Given the description of an element on the screen output the (x, y) to click on. 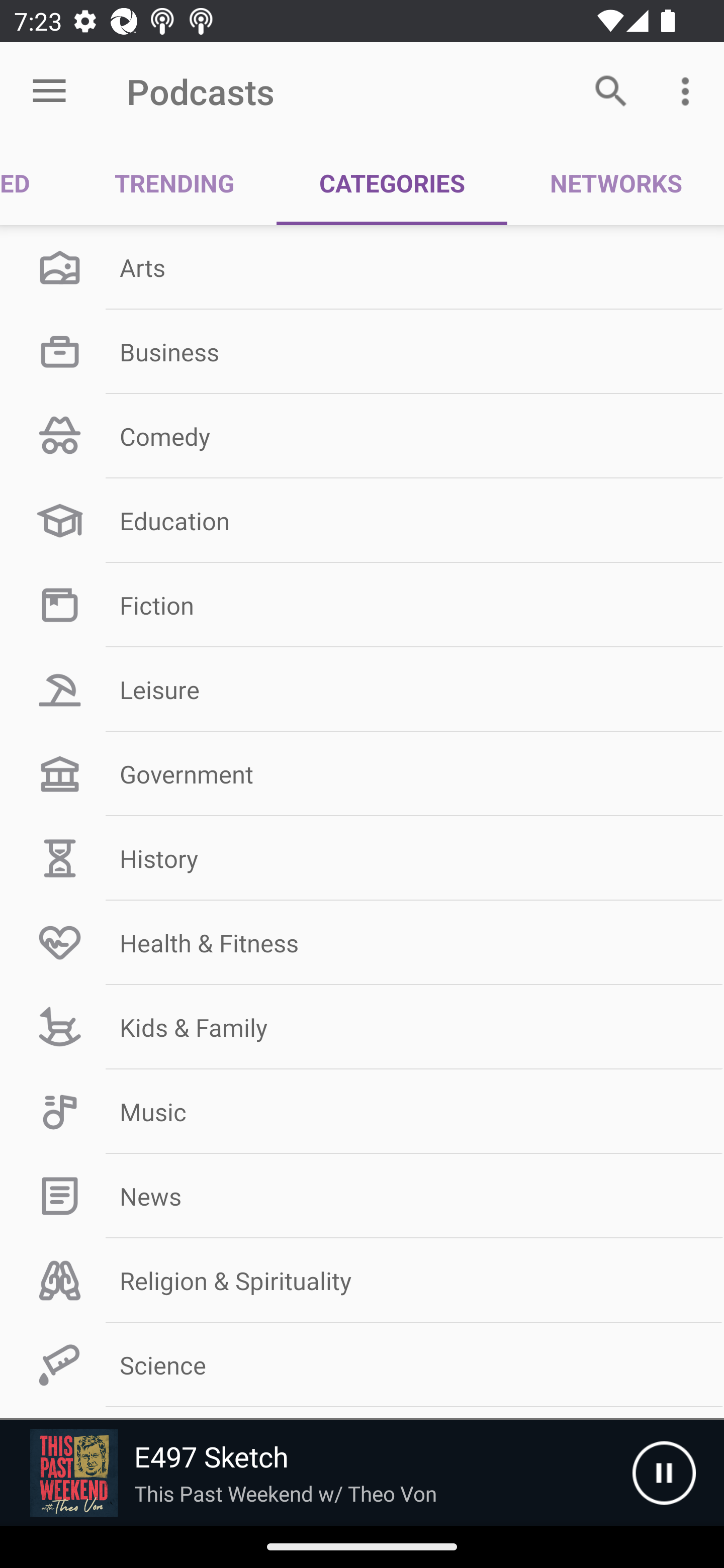
Open menu (49, 91)
Search (611, 90)
More options (688, 90)
TRENDING (174, 183)
CATEGORIES (391, 183)
NETWORKS (615, 183)
Arts (362, 266)
Business (362, 350)
Comedy (362, 435)
Education (362, 520)
Fiction (362, 604)
Leisure (362, 689)
Government (362, 774)
History (362, 858)
Health & Fitness (362, 942)
Kids & Family (362, 1026)
Music (362, 1111)
News (362, 1196)
Religion & Spirituality (362, 1280)
Science (362, 1364)
Picture E497 Sketch This Past Weekend w/ Theo Von (316, 1472)
Pause (663, 1472)
